Given the description of an element on the screen output the (x, y) to click on. 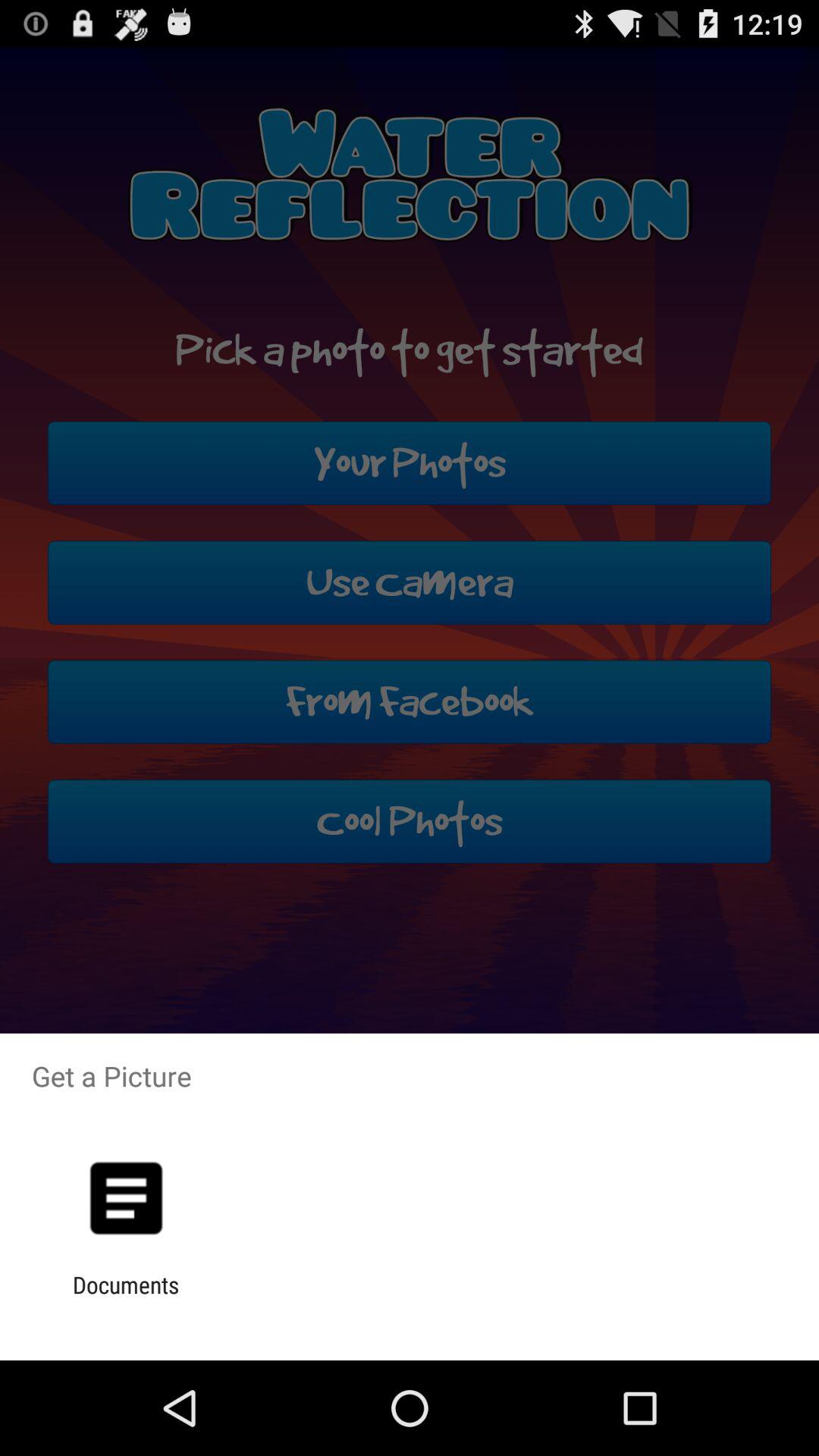
turn off the app above documents app (126, 1198)
